Given the description of an element on the screen output the (x, y) to click on. 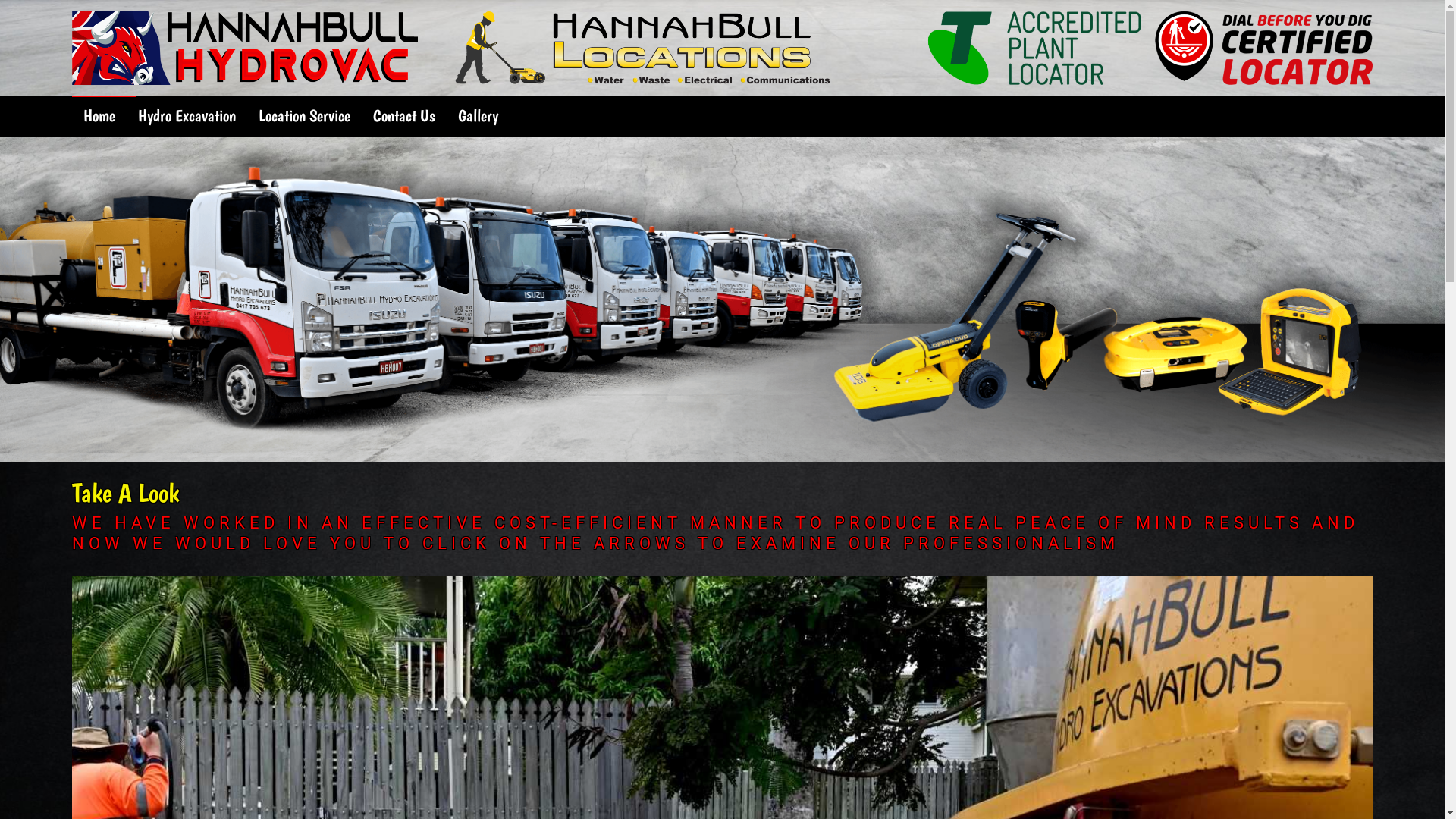
Location Service Element type: text (304, 115)
Home Element type: text (99, 115)
Hydro Excavation Element type: text (186, 115)
Gallery Element type: text (477, 115)
Contact Us Element type: text (403, 115)
